Given the description of an element on the screen output the (x, y) to click on. 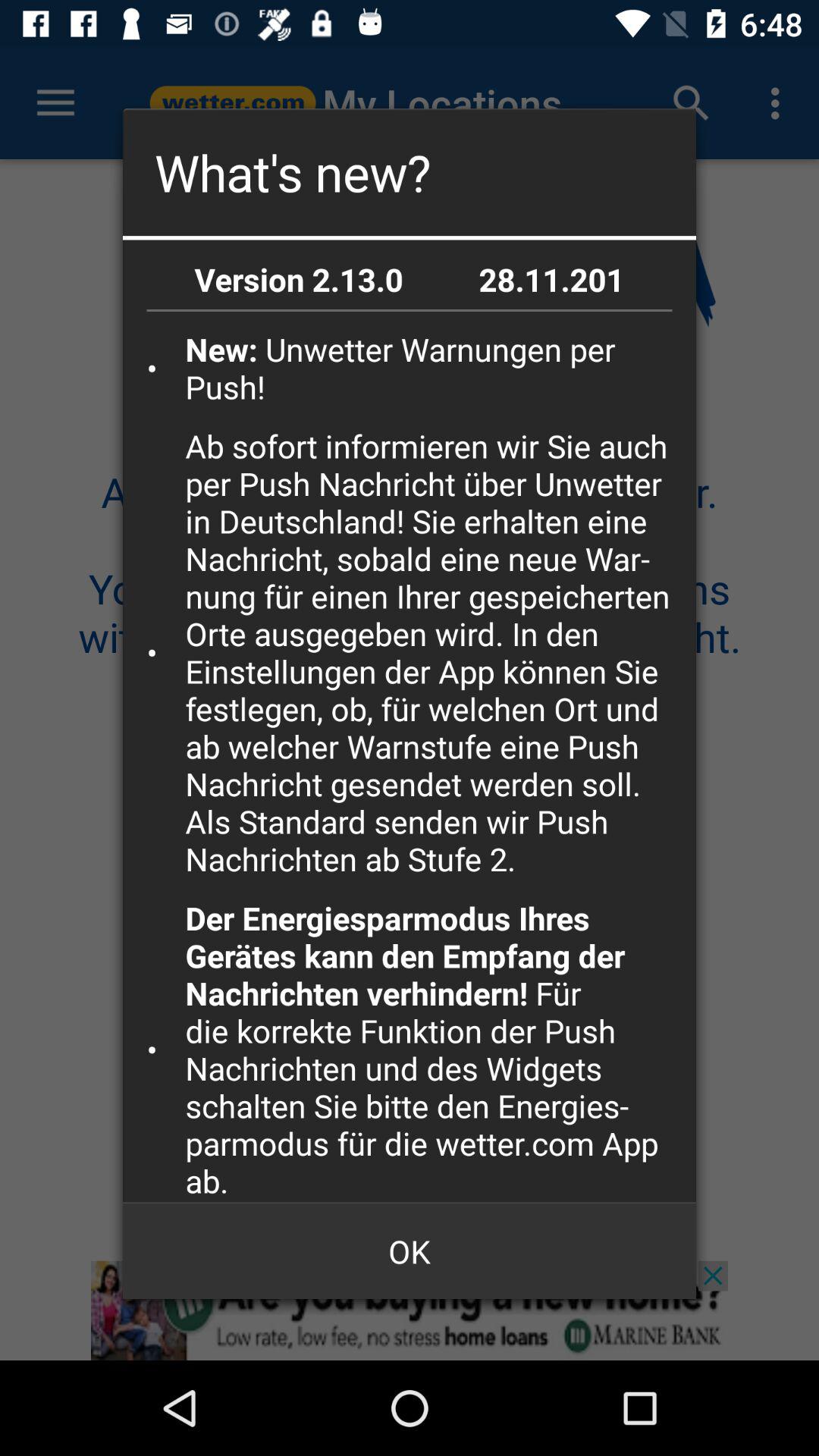
open new unwetter warnungen (435, 367)
